Given the description of an element on the screen output the (x, y) to click on. 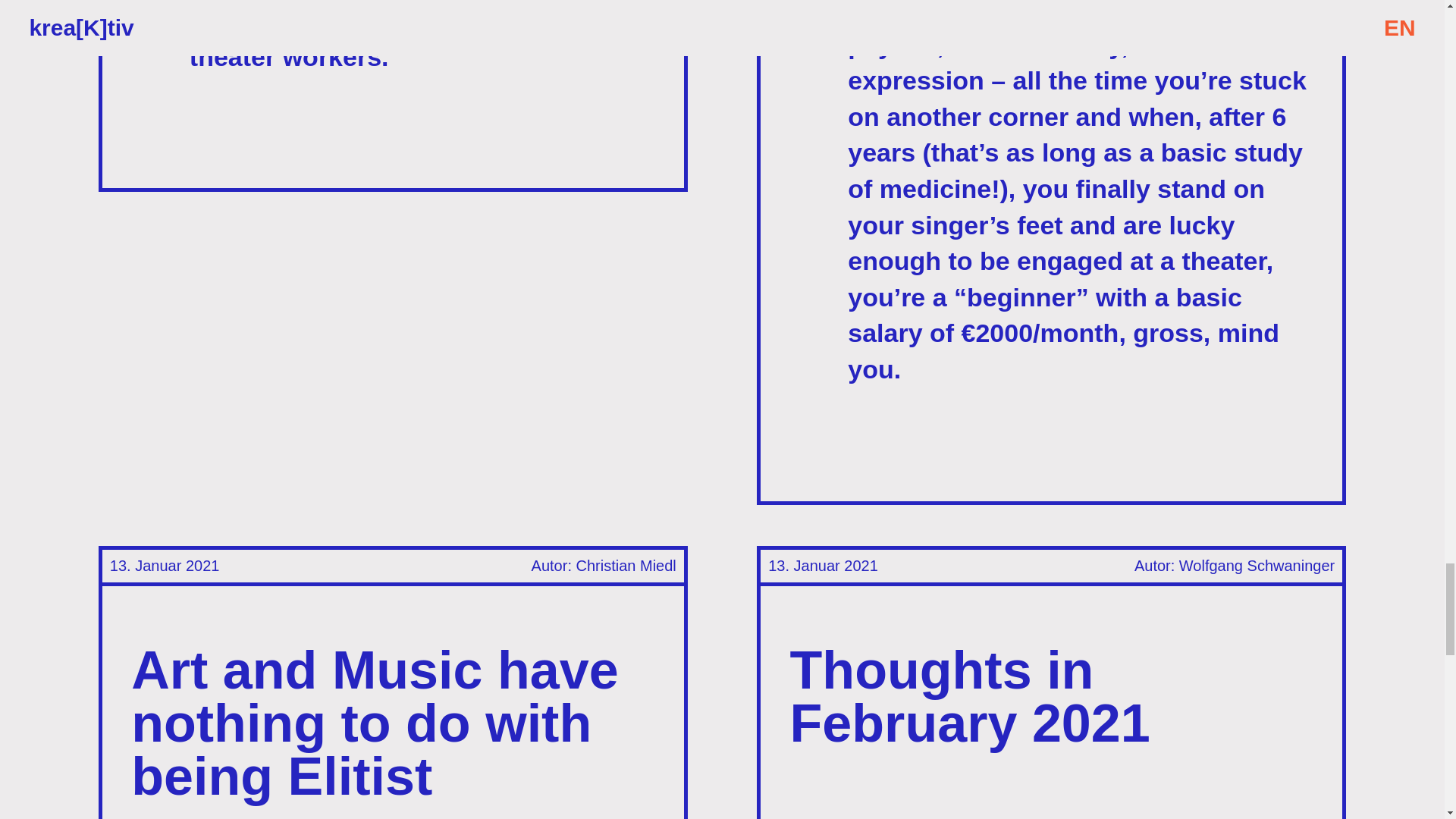
Thoughts in February 2021 (970, 696)
Art and Music have nothing to do with being Elitist (374, 722)
